Given the description of an element on the screen output the (x, y) to click on. 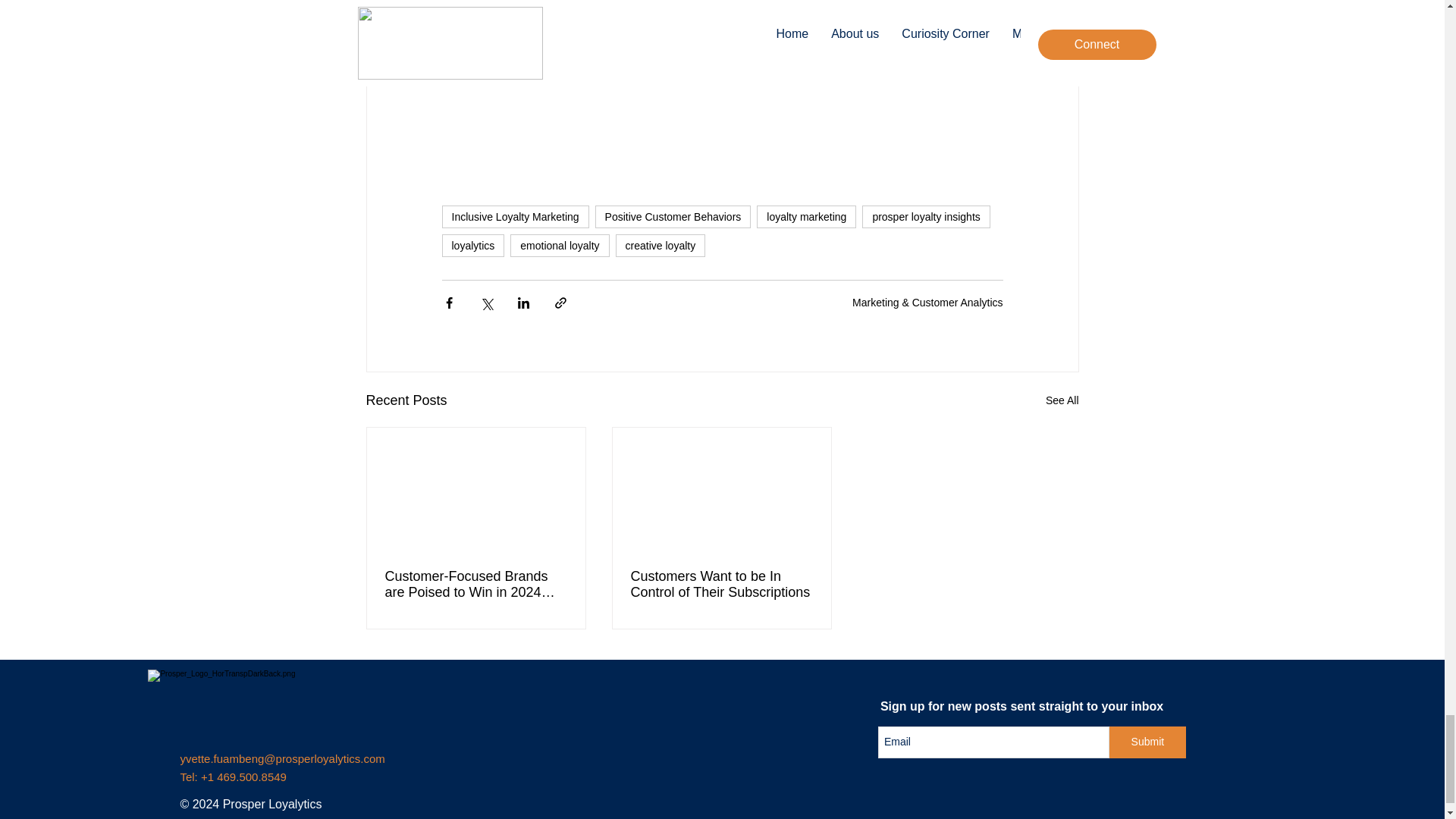
creative loyalty (660, 245)
prosper loyalty insights (925, 216)
Inclusive Loyalty Marketing (514, 216)
Customers Want to be In Control of Their Subscriptions (721, 584)
Positive Customer Behaviors (673, 216)
loyalty marketing (806, 216)
Submit (1147, 742)
emotional loyalty (559, 245)
loyalytics (472, 245)
